Given the description of an element on the screen output the (x, y) to click on. 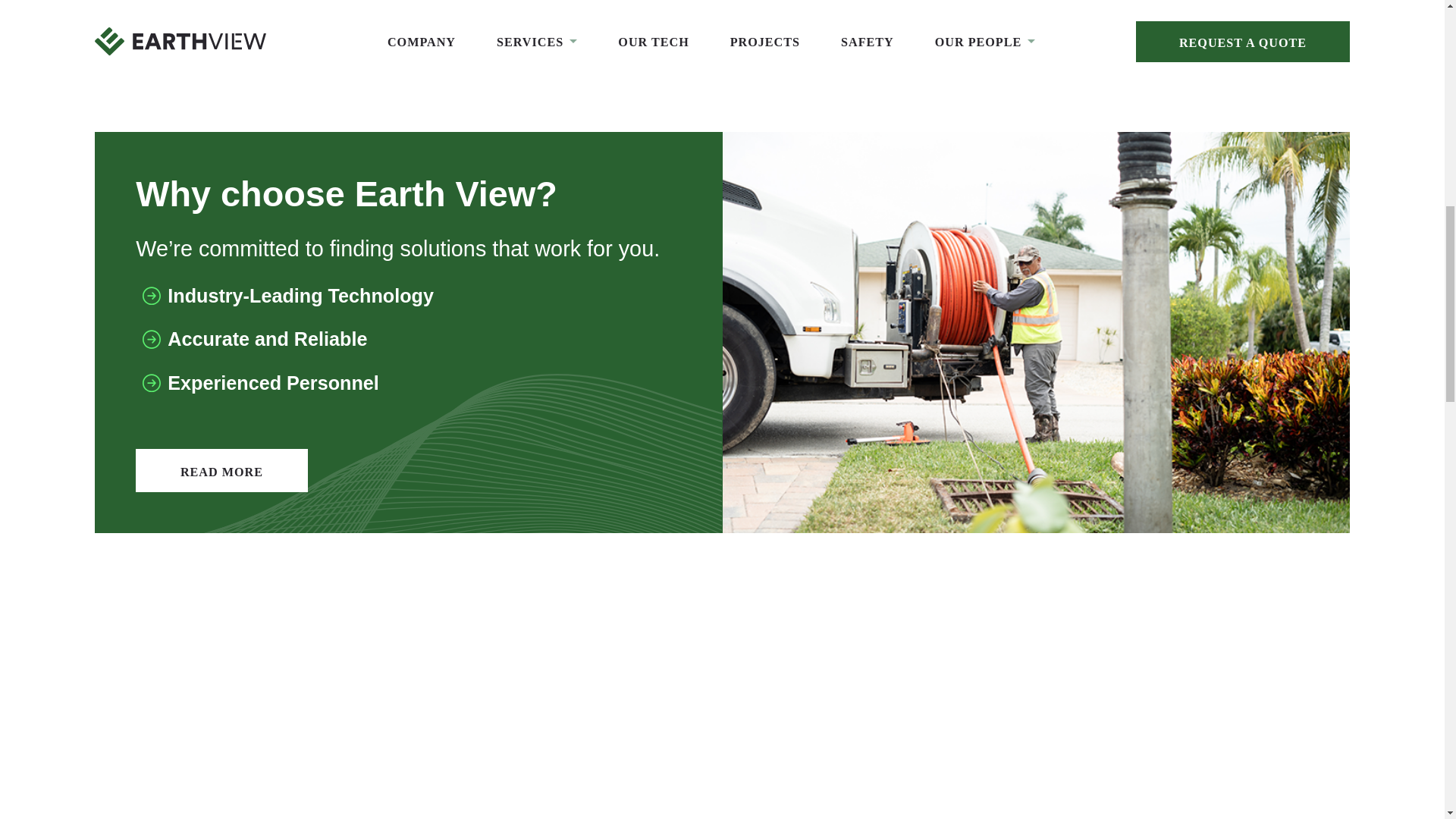
READ MORE (221, 470)
